Given the description of an element on the screen output the (x, y) to click on. 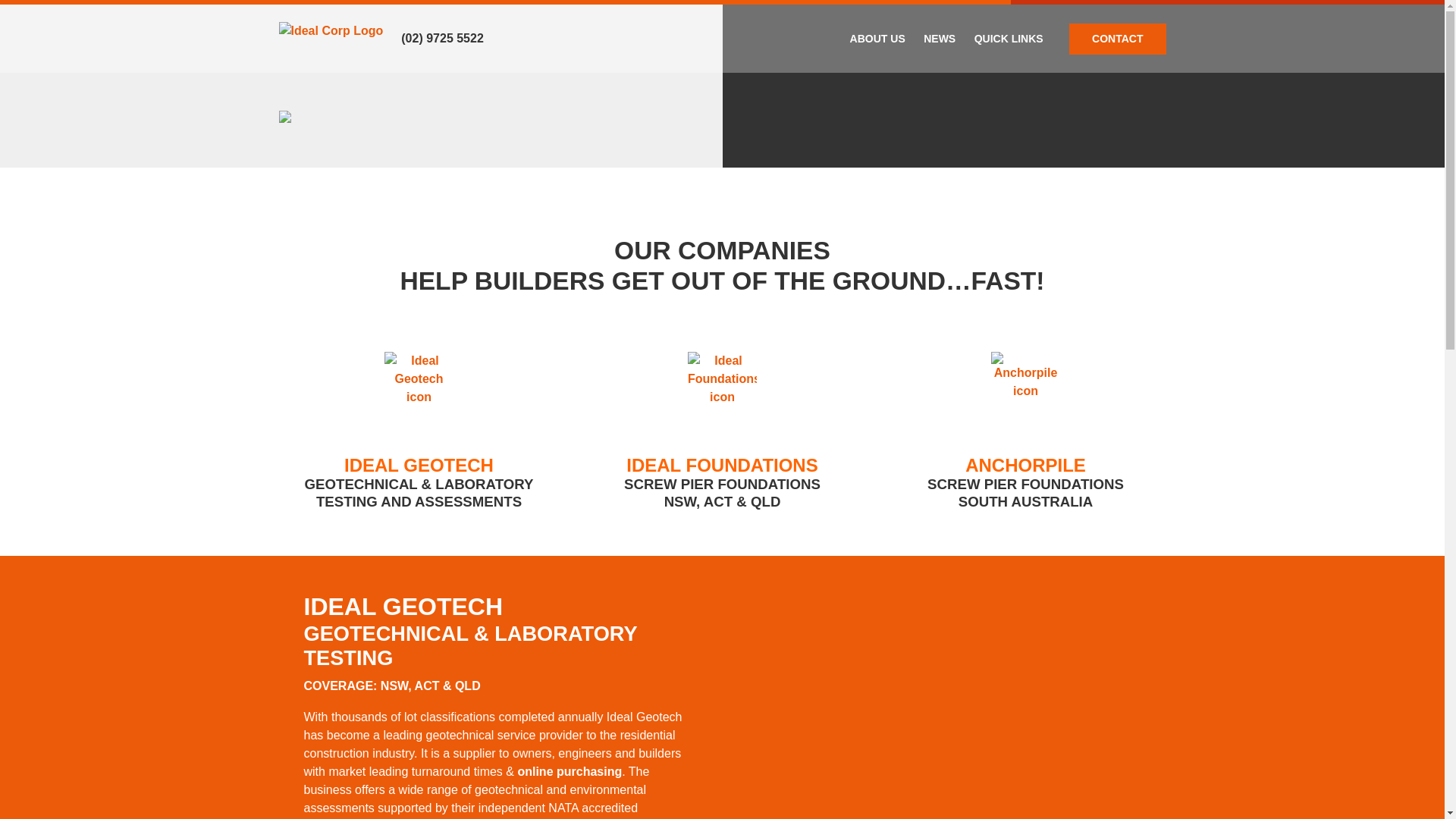
Anchorpile icon Element type: hover (1025, 389)
Ideal Foundations icon Element type: hover (721, 389)
online purchasing Element type: text (569, 771)
QUICK LINKS Element type: text (1008, 37)
Ideal Geotech icon Element type: hover (418, 389)
ABOUT US Element type: text (877, 37)
CONTACT Element type: text (1117, 37)
NEWS Element type: text (939, 37)
